Given the description of an element on the screen output the (x, y) to click on. 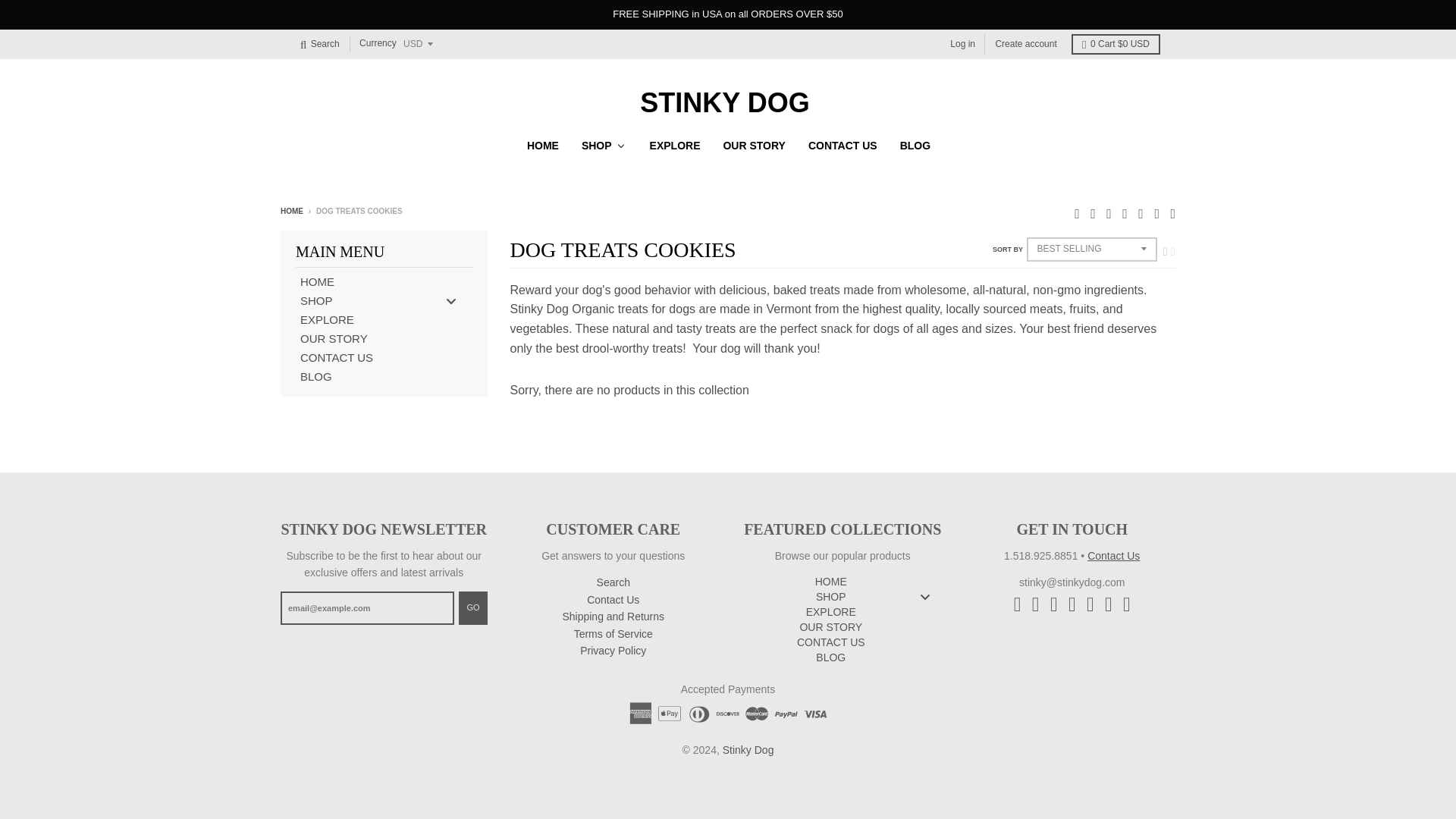
SHOP (603, 144)
STINKY DOG (724, 103)
Search (319, 44)
Log in (961, 44)
HOME (542, 144)
Create account (1025, 44)
